Given the description of an element on the screen output the (x, y) to click on. 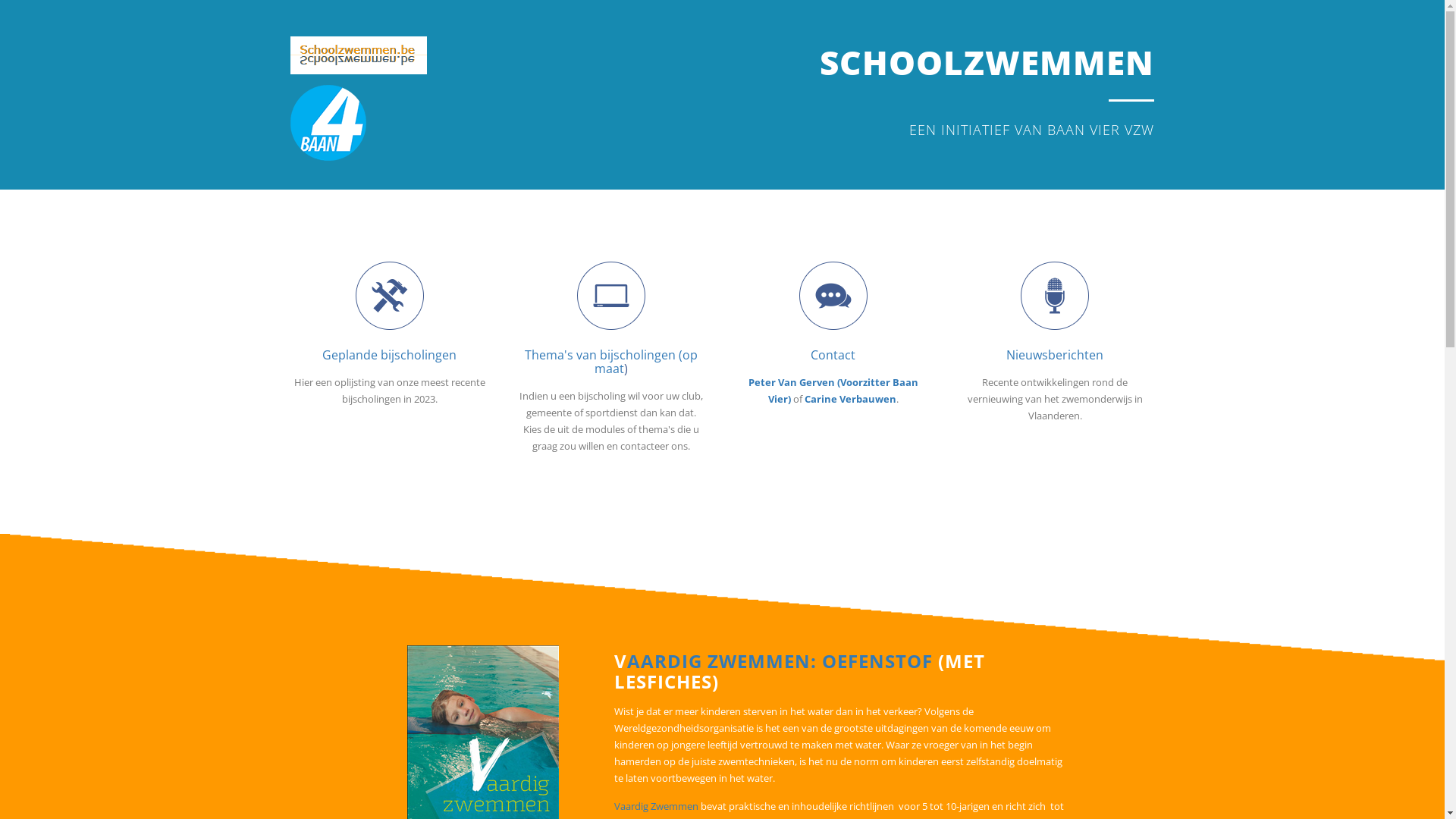
Nieuwsberichten Element type: text (1054, 354)
Vaardig Zwemmen Element type: text (656, 805)
Peter Van Gerven (Voorzitter Baan Vier) Element type: text (833, 390)
Contact Element type: text (832, 354)
AARDIG ZWEMMEN: OEFENSTOF Element type: text (779, 660)
Thema's van bijscholingen (op maat Element type: text (610, 361)
Carine Verbauwen Element type: text (850, 398)
Geplande bijscholingen Element type: text (389, 354)
